Given the description of an element on the screen output the (x, y) to click on. 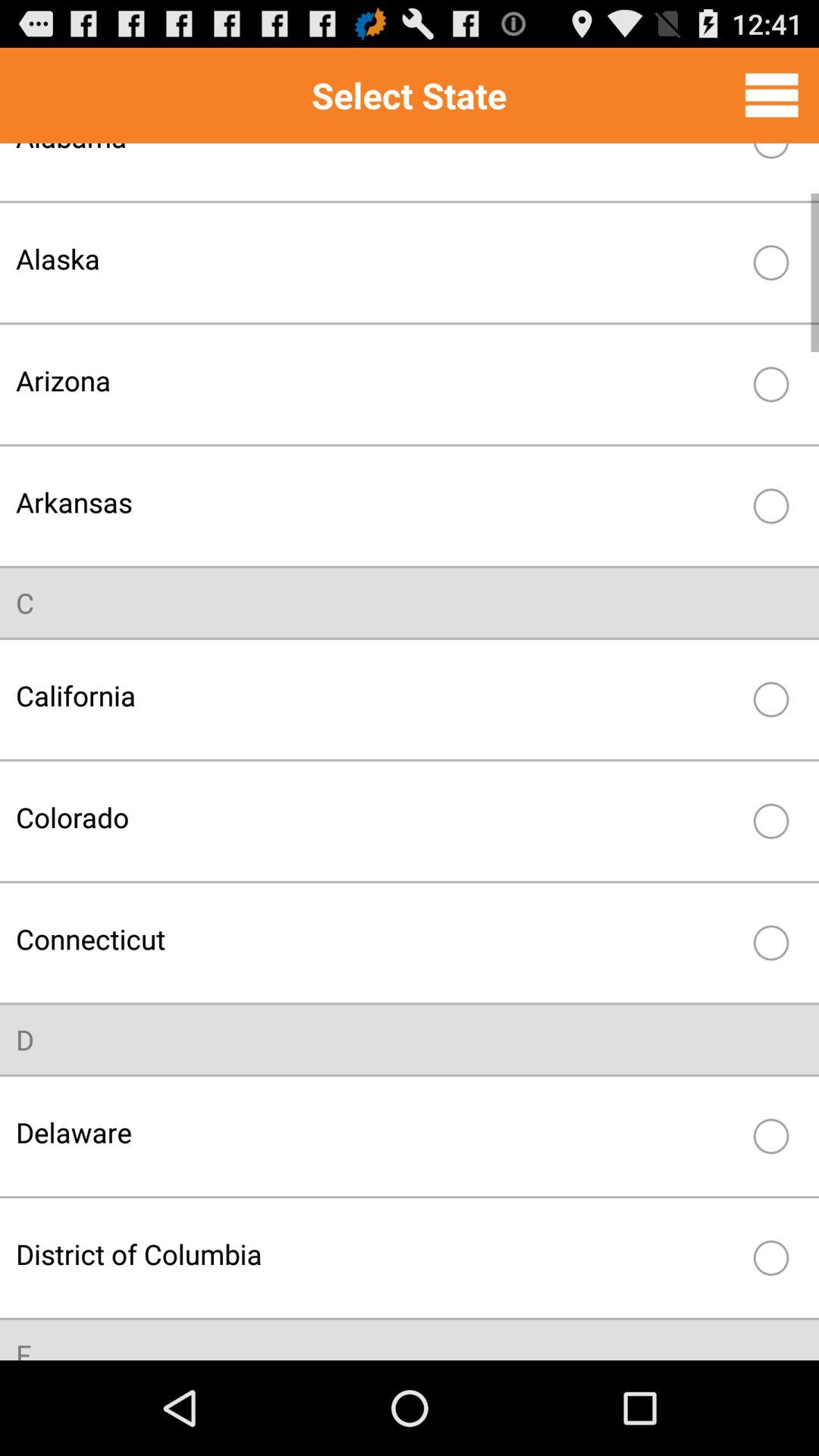
select item to the right of the select state icon (771, 95)
